Given the description of an element on the screen output the (x, y) to click on. 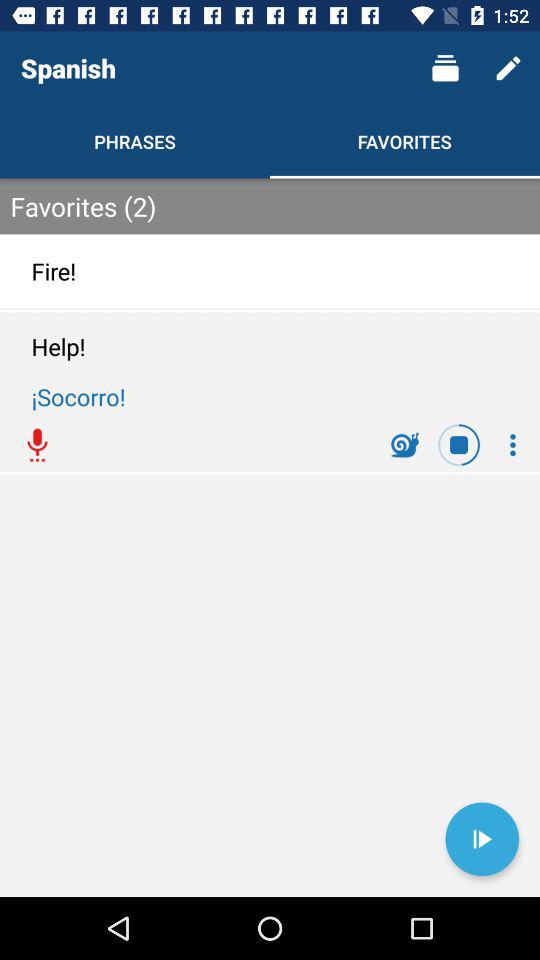
tap icon above the favorites (2) icon (508, 67)
